Given the description of an element on the screen output the (x, y) to click on. 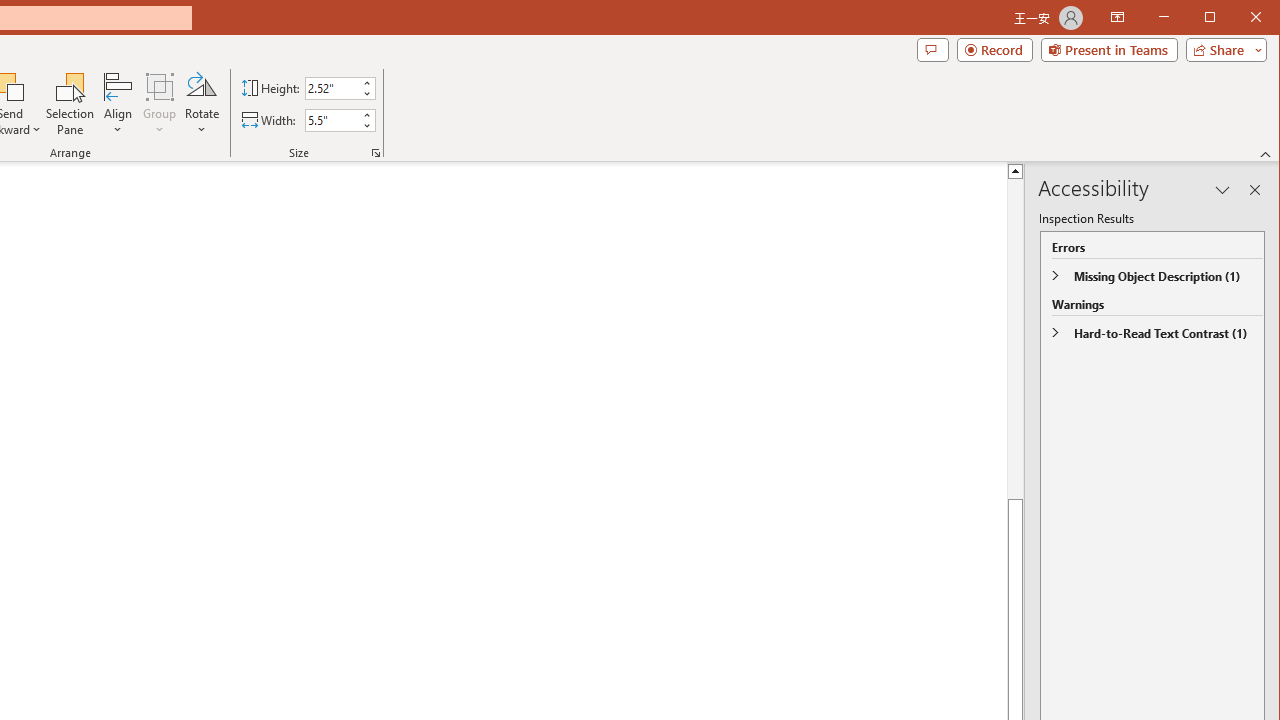
Shape Height (331, 88)
Selection Pane... (70, 104)
Size and Position... (376, 152)
